Given the description of an element on the screen output the (x, y) to click on. 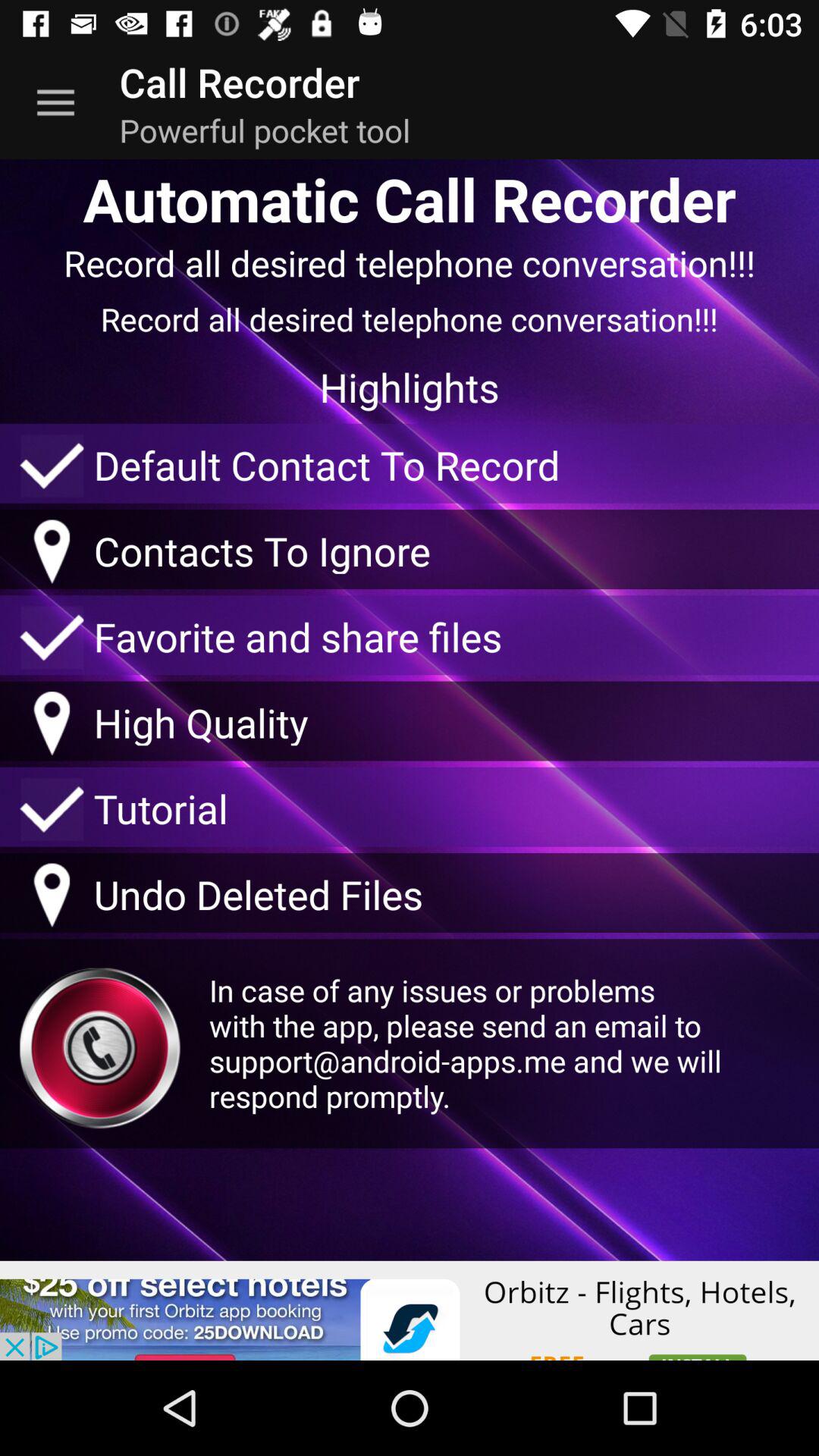
interact with advertisement (409, 1310)
